Given the description of an element on the screen output the (x, y) to click on. 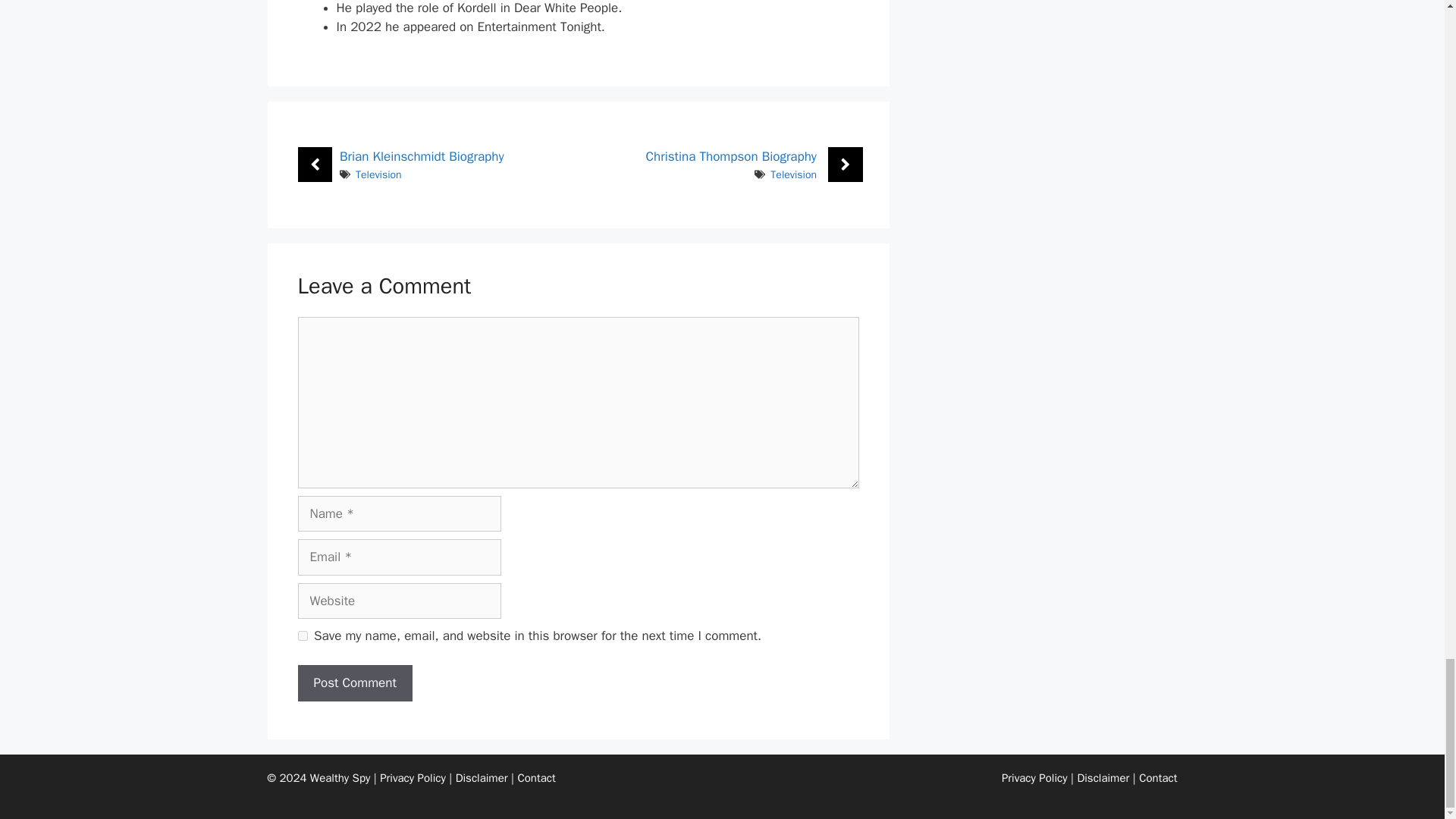
Television (378, 174)
Post Comment (354, 683)
Post Comment (354, 683)
Brian Kleinschmidt Biography (421, 156)
Christina Thompson Biography (731, 156)
Television (793, 174)
yes (302, 635)
